Given the description of an element on the screen output the (x, y) to click on. 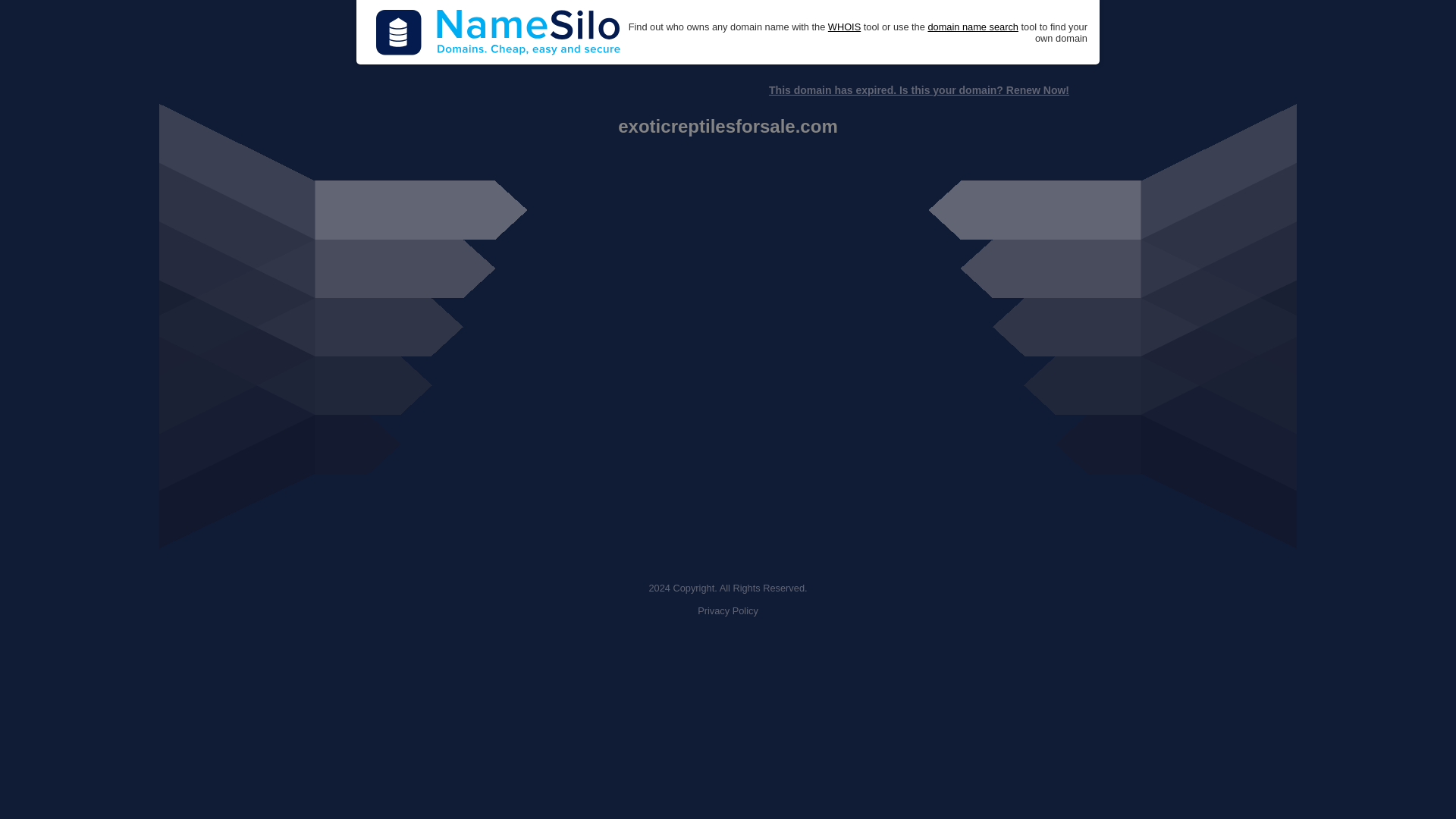
This domain has expired. Is this your domain? Renew Now! (918, 90)
domain name search (972, 26)
WHOIS (844, 26)
Privacy Policy (727, 610)
